Given the description of an element on the screen output the (x, y) to click on. 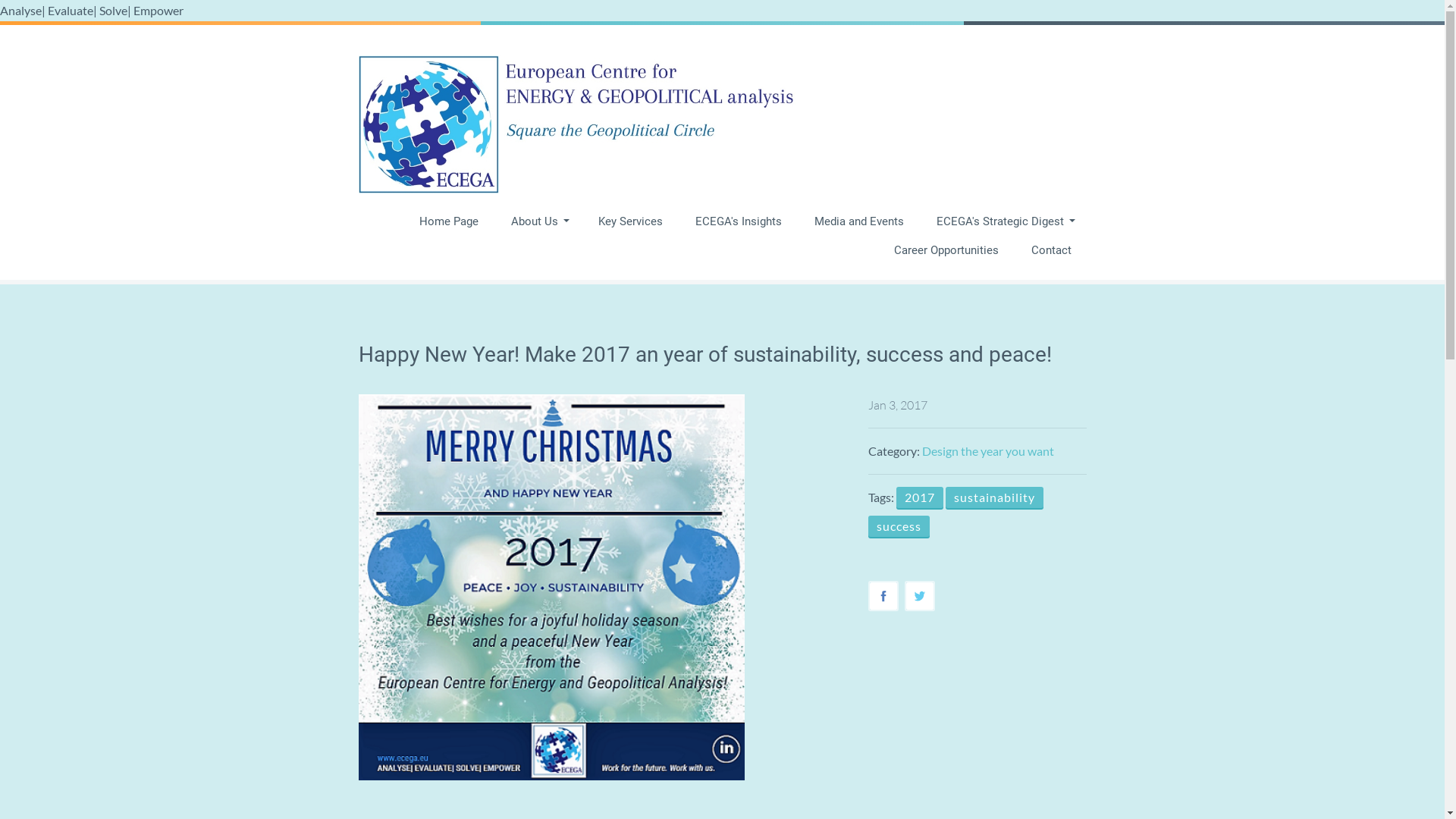
Key Services (629, 221)
Home Page (448, 221)
2017 (919, 496)
ECEGA's Insights (737, 221)
success (897, 526)
sustainability (993, 496)
Contact (1051, 249)
Media and Events (858, 221)
Career Opportunities (945, 249)
Design the year you want (987, 450)
